Given the description of an element on the screen output the (x, y) to click on. 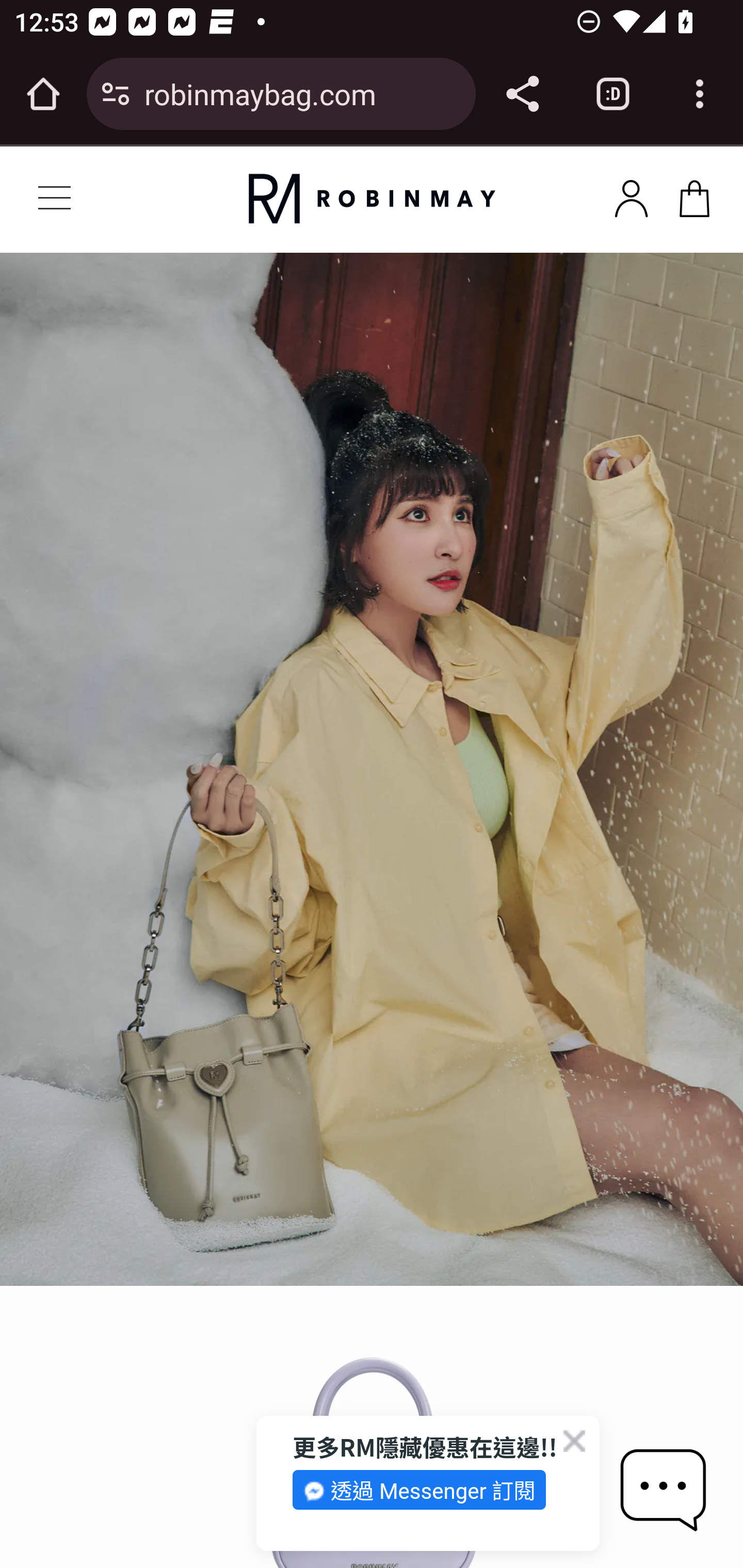
Open the home page (43, 93)
Connection is secure (115, 93)
Share (522, 93)
Switch or close tabs (612, 93)
Customize and control Google Chrome (699, 93)
robinmaybag.com (302, 92)
original (371, 199)
x100 (631, 195)
x100 (694, 195)
